Given the description of an element on the screen output the (x, y) to click on. 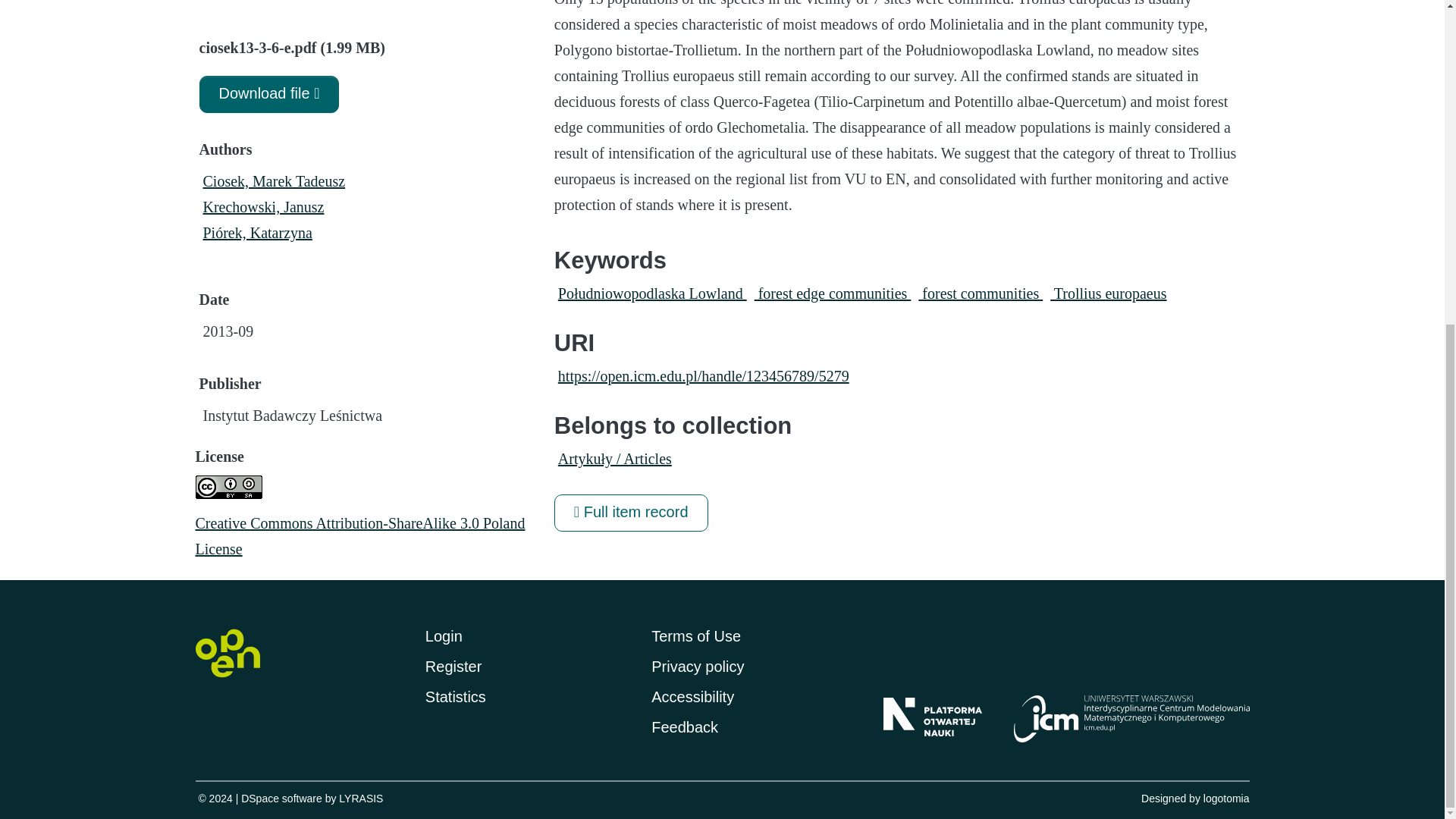
Register (453, 666)
DSpace software (281, 798)
Download file (268, 94)
Login (444, 636)
Accessibility (691, 696)
Ciosek, Marek Tadeusz (274, 180)
forest edge communities (832, 292)
Privacy policy (697, 666)
LYRASIS (360, 798)
logotomia (1226, 798)
Creative Commons Attribution-ShareAlike 3.0 Poland License (357, 535)
Trollius europaeus (1107, 292)
forest communities (980, 292)
Statistics (455, 696)
Full item record (630, 512)
